Given the description of an element on the screen output the (x, y) to click on. 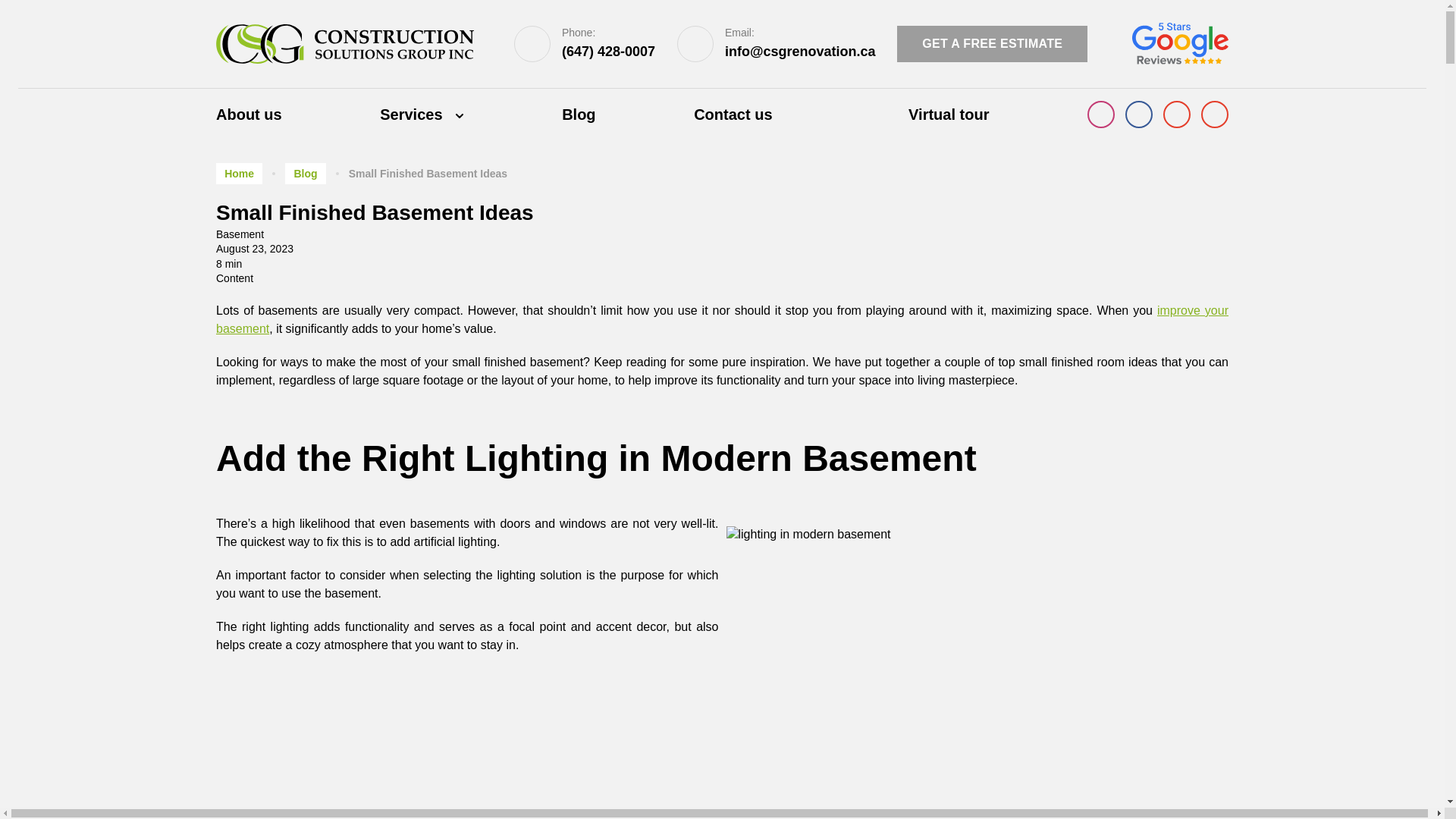
About us (297, 113)
About us (297, 113)
Services (471, 113)
Services (471, 113)
GET A FREE ESTIMATE (991, 43)
